Given the description of an element on the screen output the (x, y) to click on. 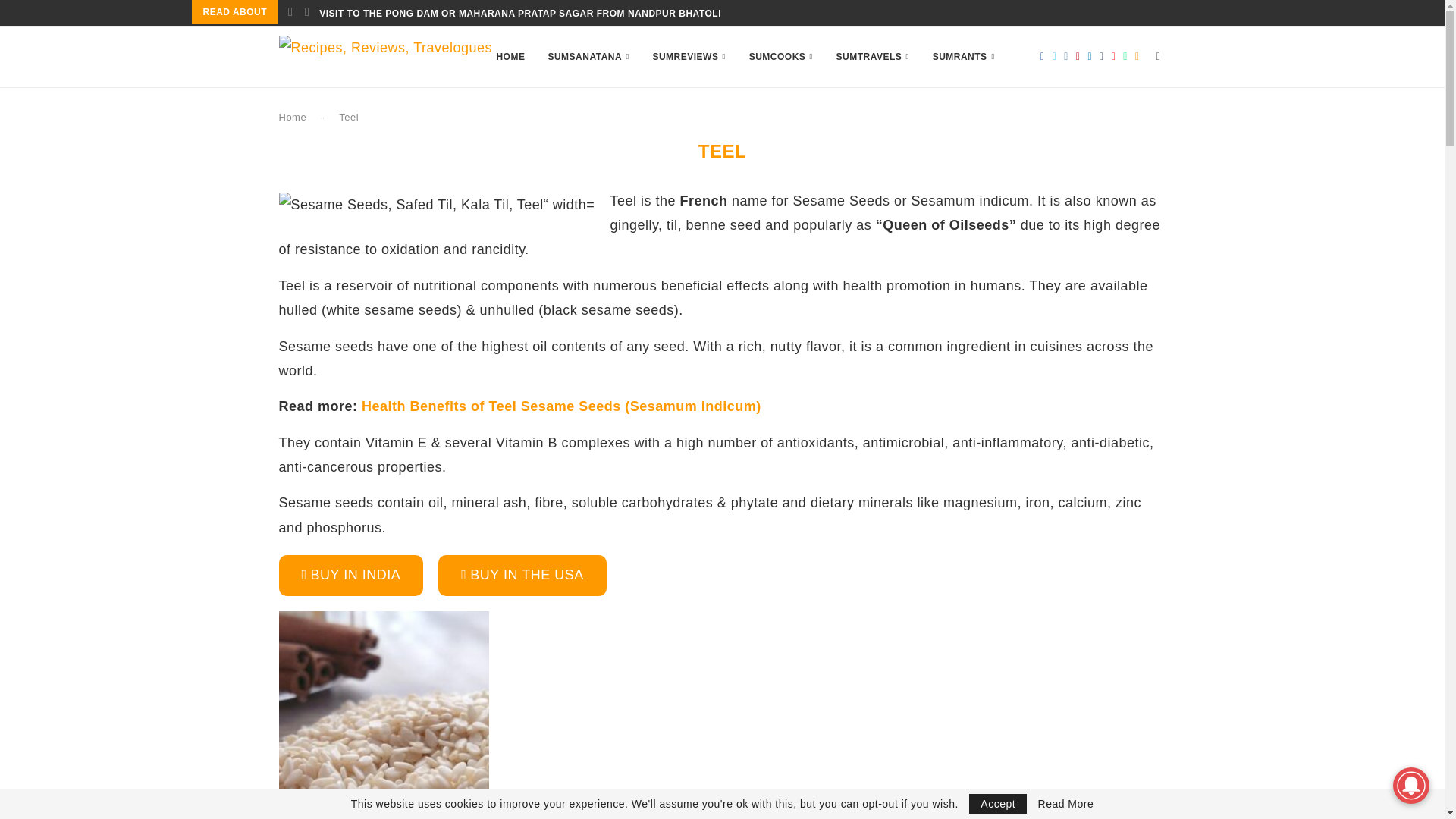
SUMREVIEWS (688, 56)
SUMCOOKS (781, 56)
SUMSANATANA (587, 56)
